Given the description of an element on the screen output the (x, y) to click on. 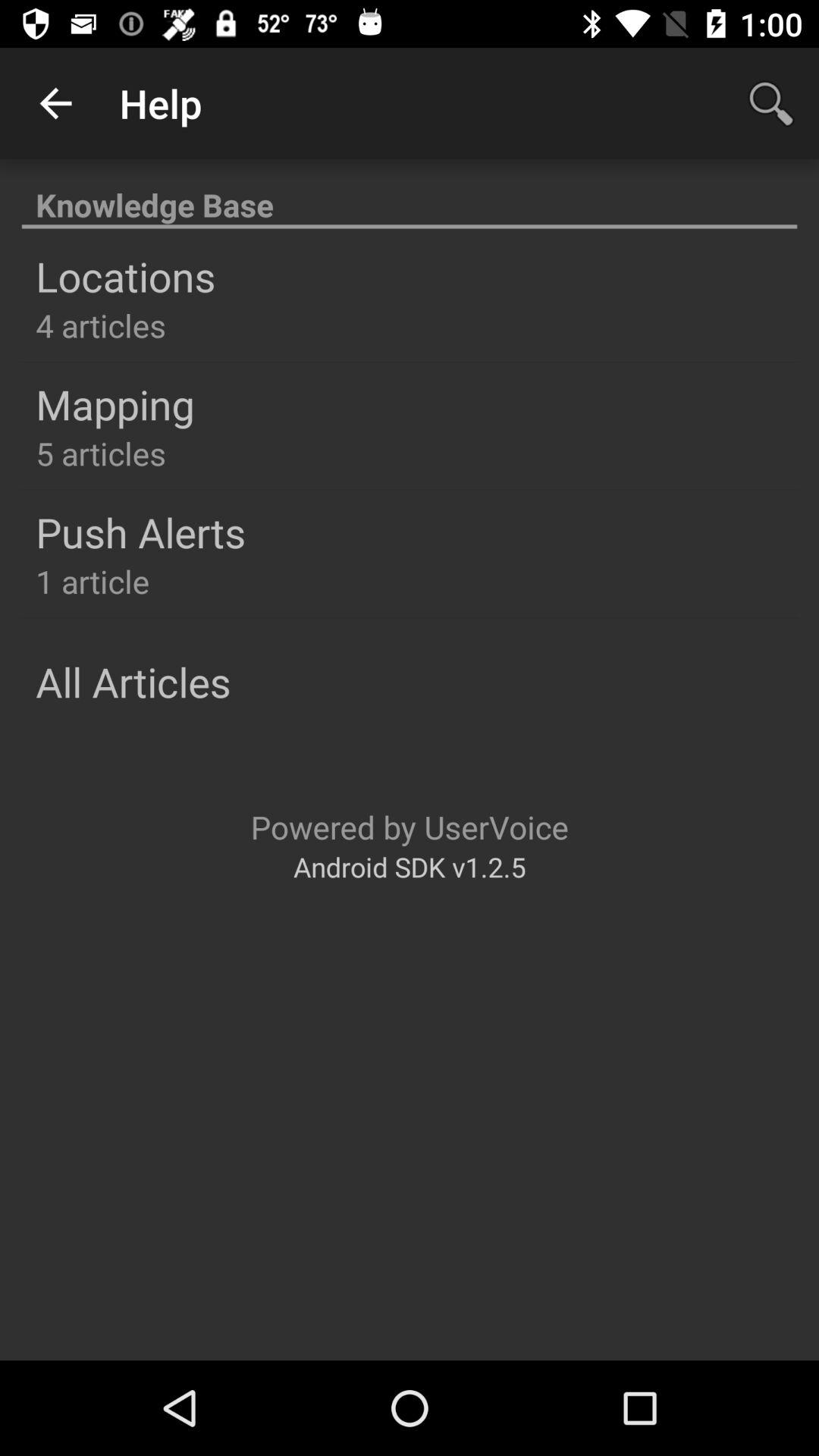
select the icon above the knowledge base (55, 103)
